Given the description of an element on the screen output the (x, y) to click on. 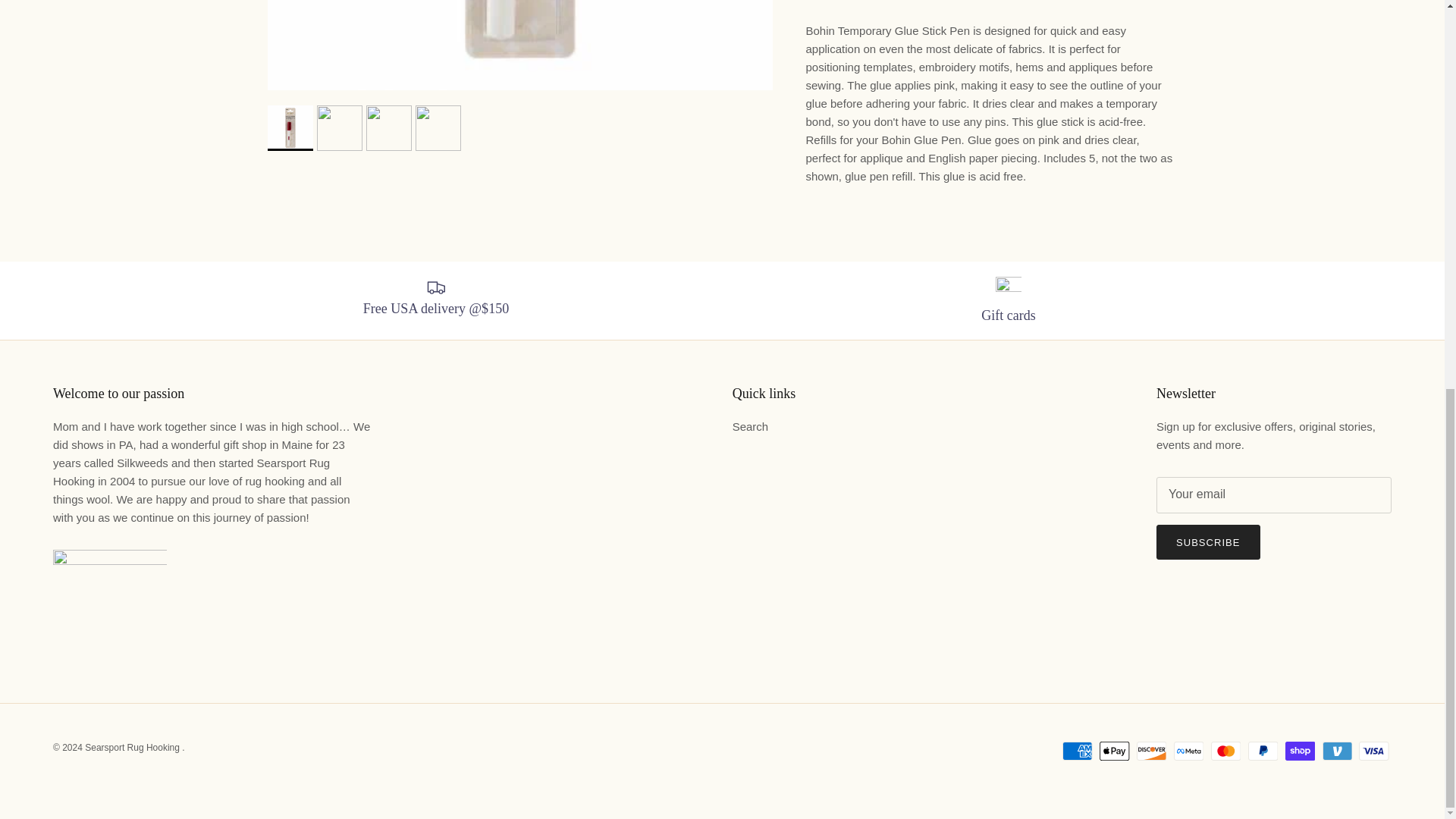
American Express (1077, 751)
Meta Pay (1188, 751)
Visa (1373, 751)
Discover (1151, 751)
Mastercard (1225, 751)
Venmo (1337, 751)
Shop Pay (1299, 751)
PayPal (1262, 751)
Apple Pay (1114, 751)
